Given the description of an element on the screen output the (x, y) to click on. 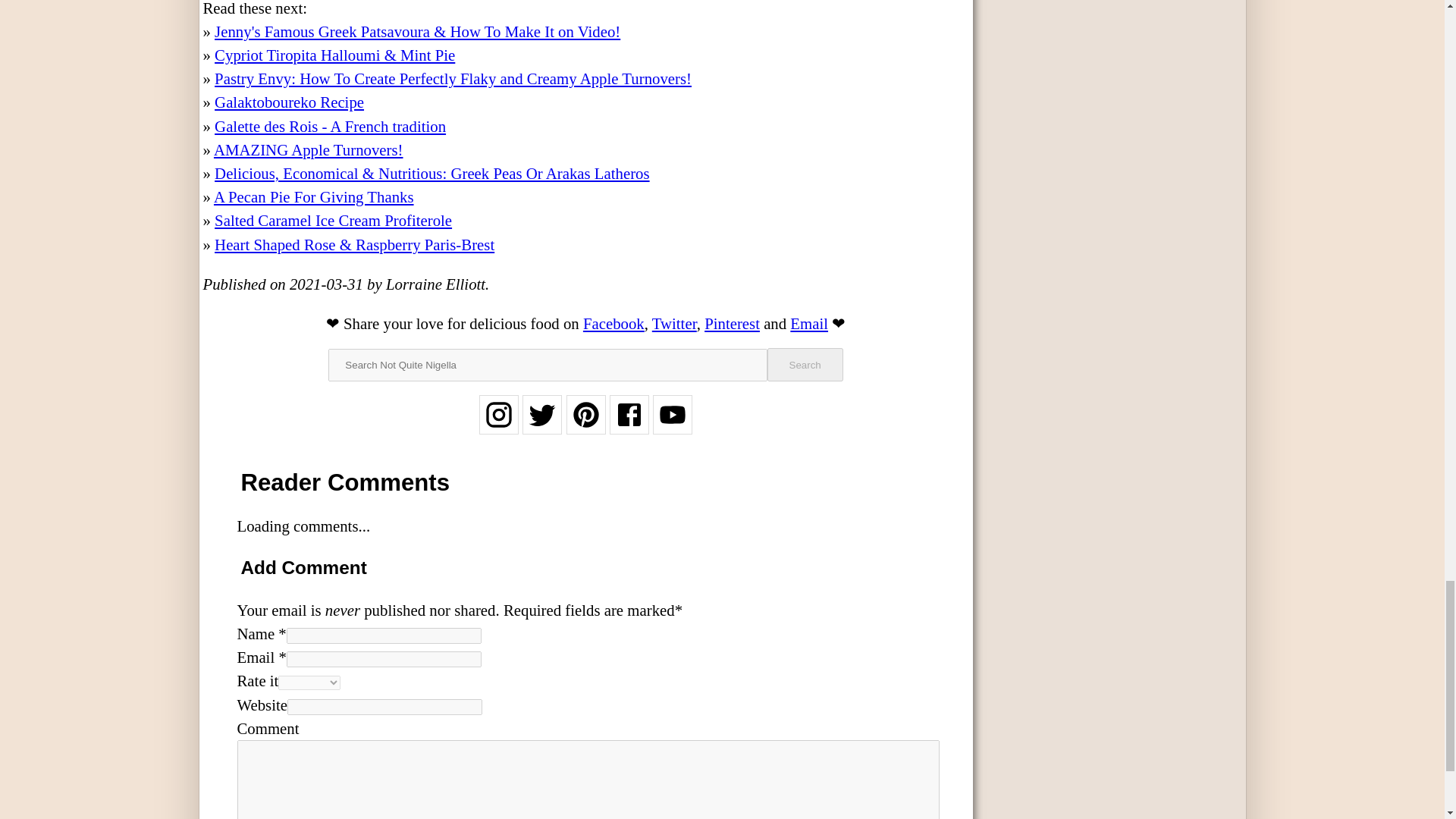
Email (809, 322)
Follow on Facebook (629, 424)
Search (805, 364)
Follow on Instagram (498, 424)
Follow on Twitter (542, 424)
Pin it (732, 322)
Tweet (674, 322)
Galette des Rois - A French tradition (329, 126)
Follow on YouTube (672, 424)
Pinterest (732, 322)
